Given the description of an element on the screen output the (x, y) to click on. 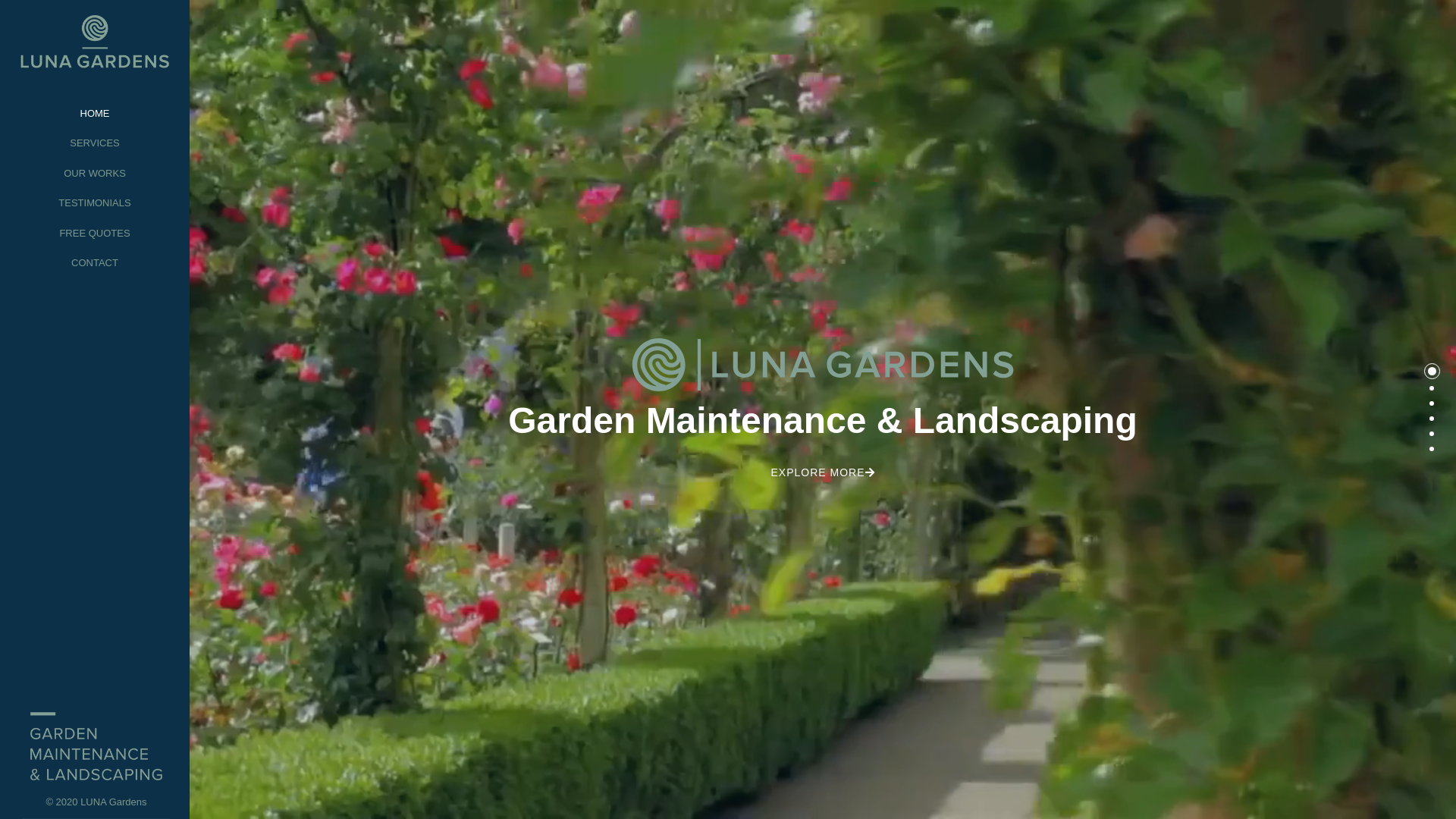
Home Element type: text (1432, 371)
OUR WORKS Element type: text (94, 173)
Our Works Element type: text (1432, 402)
SERVICES Element type: text (94, 143)
Services Element type: text (1432, 387)
EXPLORE MORE Element type: text (822, 472)
HOME Element type: text (94, 113)
Testimonials Element type: text (1432, 417)
FREE QUOTES Element type: text (94, 233)
TESTIMONIALS Element type: text (94, 203)
Contact Us Element type: text (1432, 447)
Free Quotes Element type: text (1432, 432)
CONTACT Element type: text (94, 262)
